Given the description of an element on the screen output the (x, y) to click on. 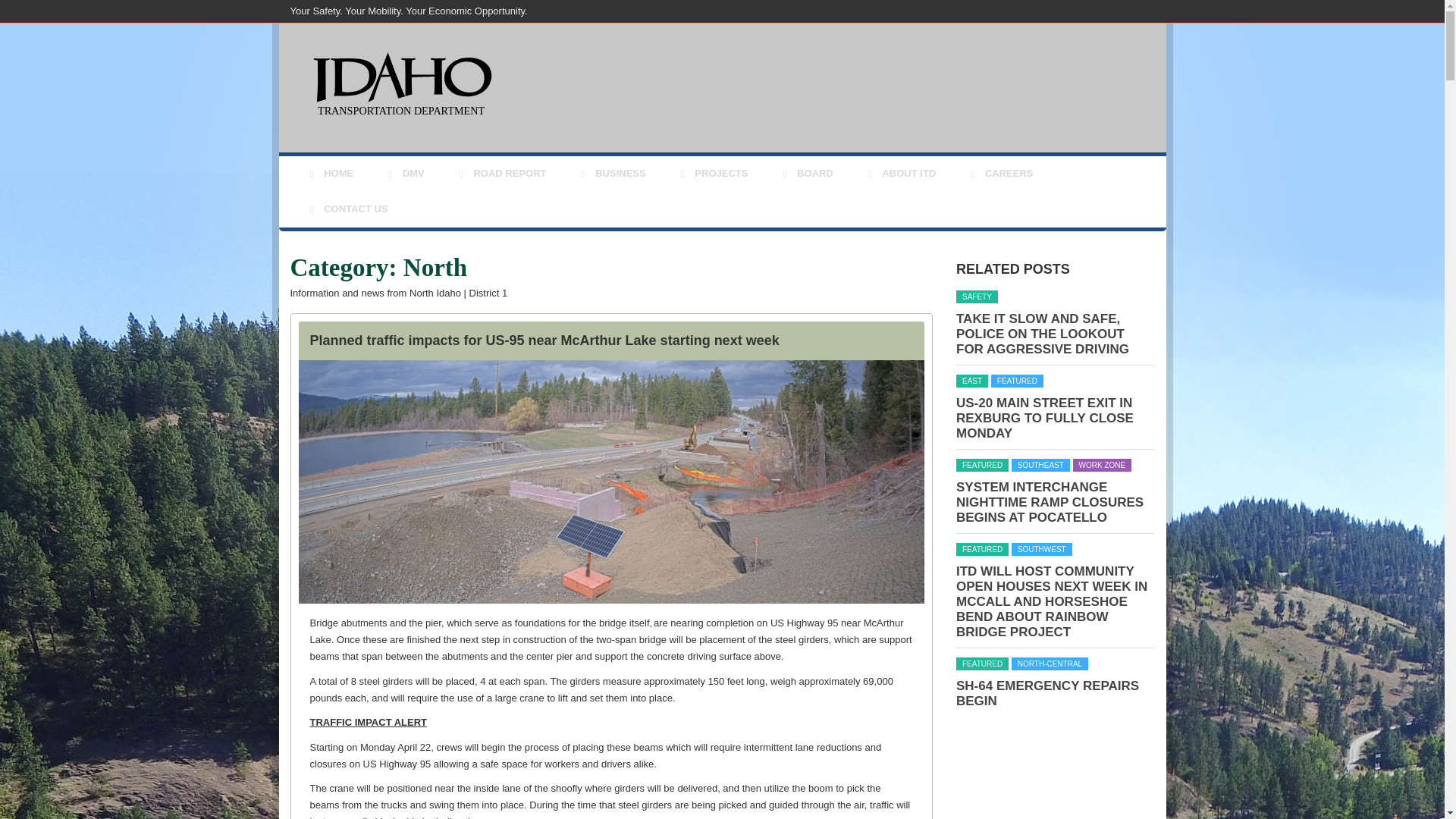
BUSINESS (611, 173)
CAREERS (999, 173)
BOARD (804, 173)
Idaho Transportation Department (468, 158)
SH-64 emergency repairs begin (1047, 693)
Idaho Transportation Department (397, 70)
ABOUT ITD (899, 173)
CONTACT US (346, 209)
ROAD REPORT (500, 173)
DMV (403, 173)
US-20 Main Street Exit in Rexburg to fully close Monday (1045, 417)
